Given the description of an element on the screen output the (x, y) to click on. 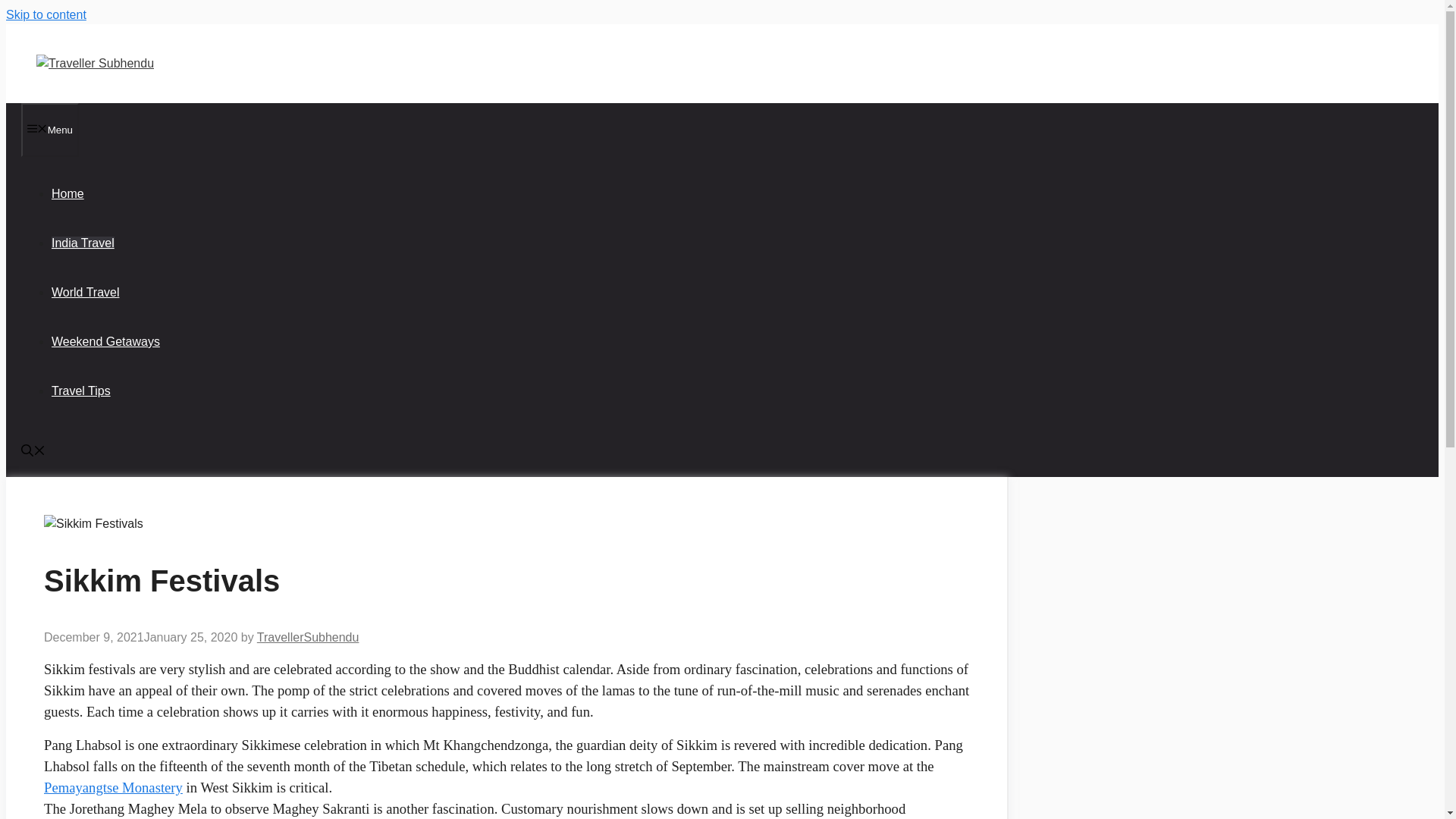
Weekend Getaways (105, 341)
India Travel (82, 242)
View all posts by TravellerSubhendu (308, 636)
Pemayangtse Monastery (113, 787)
Travel Tips (80, 390)
World Travel (84, 291)
Menu (49, 130)
Skip to content (45, 14)
Skip to content (45, 14)
Home (67, 193)
